Given the description of an element on the screen output the (x, y) to click on. 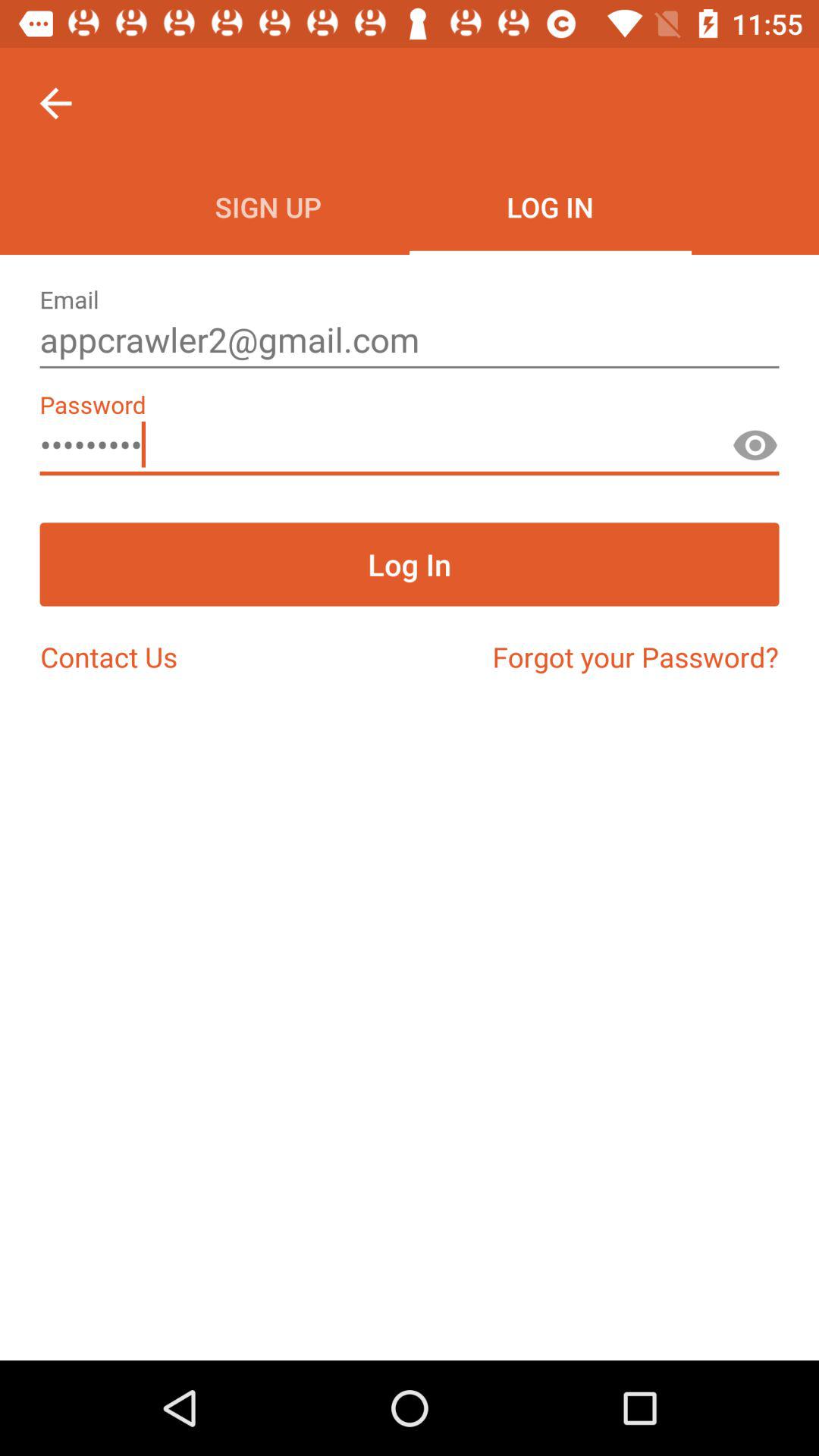
view password (755, 451)
